Given the description of an element on the screen output the (x, y) to click on. 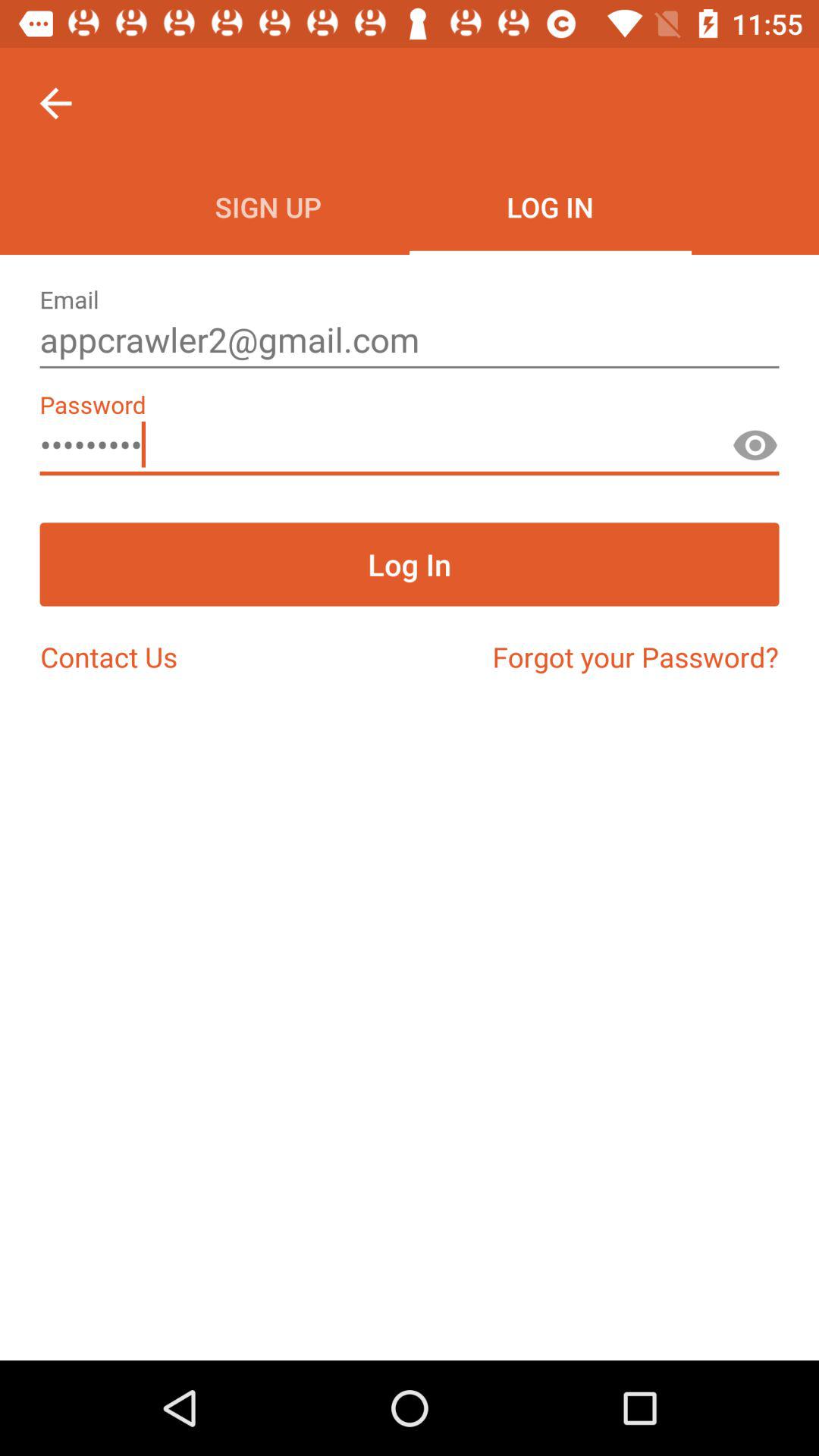
view password (755, 451)
